Given the description of an element on the screen output the (x, y) to click on. 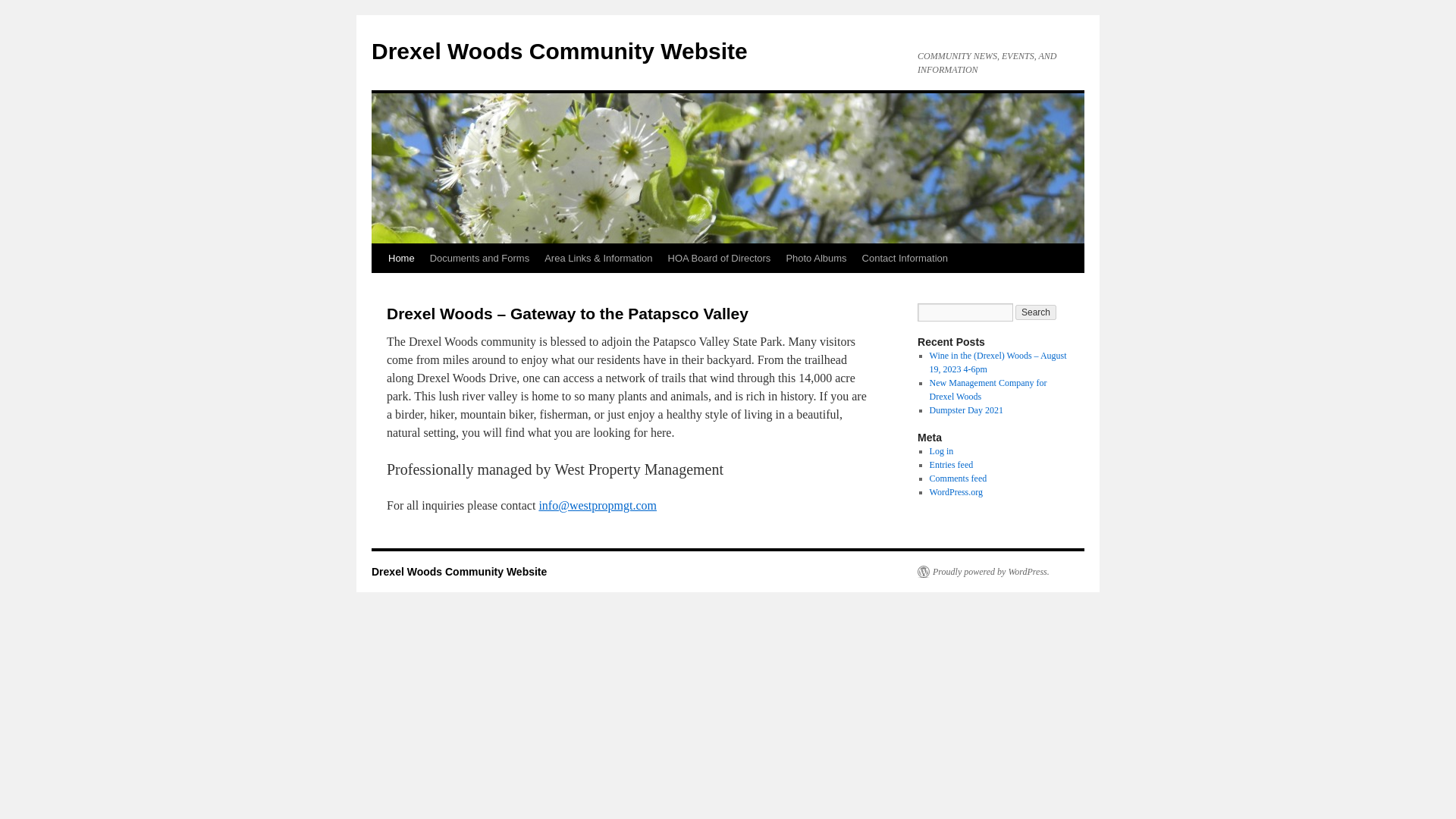
WordPress.org (956, 491)
Drexel Woods Community Website (559, 50)
Comments feed (958, 478)
Search (1035, 312)
Dumpster Day 2021 (966, 409)
Home (401, 258)
New Management Company for Drexel Woods (988, 389)
Photo Albums (815, 258)
HOA Board of Directors (719, 258)
Contact Information (904, 258)
Entries feed (952, 464)
Documents and Forms (479, 258)
Search (1035, 312)
Log in (941, 450)
Drexel Woods Community Website (559, 50)
